Given the description of an element on the screen output the (x, y) to click on. 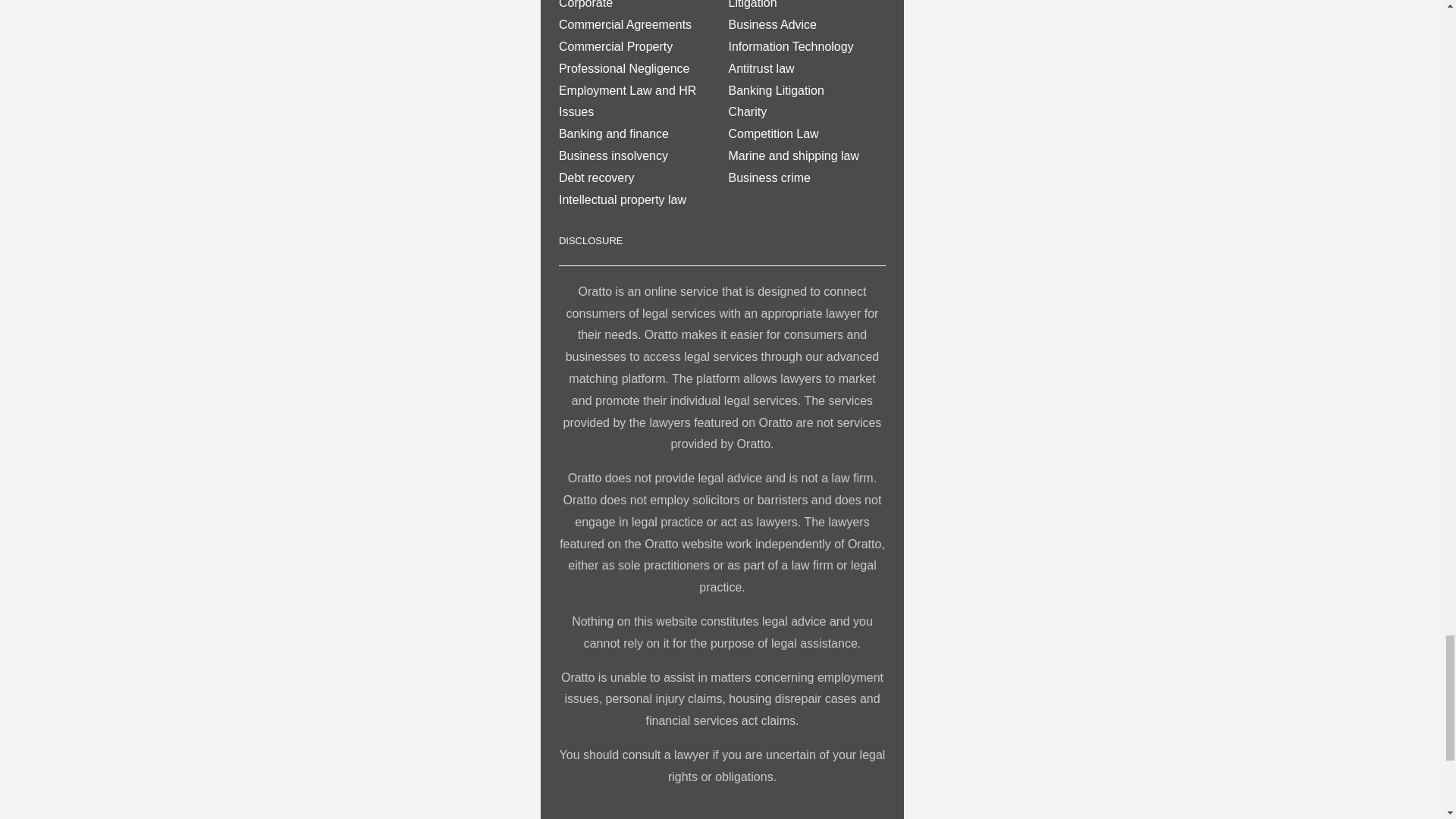
Banking and finance (613, 133)
Commercial Agreements (625, 24)
Professional Negligence (624, 68)
Corporate (585, 4)
Employment Law and HR Issues (627, 101)
Commercial Property (615, 46)
